Given the description of an element on the screen output the (x, y) to click on. 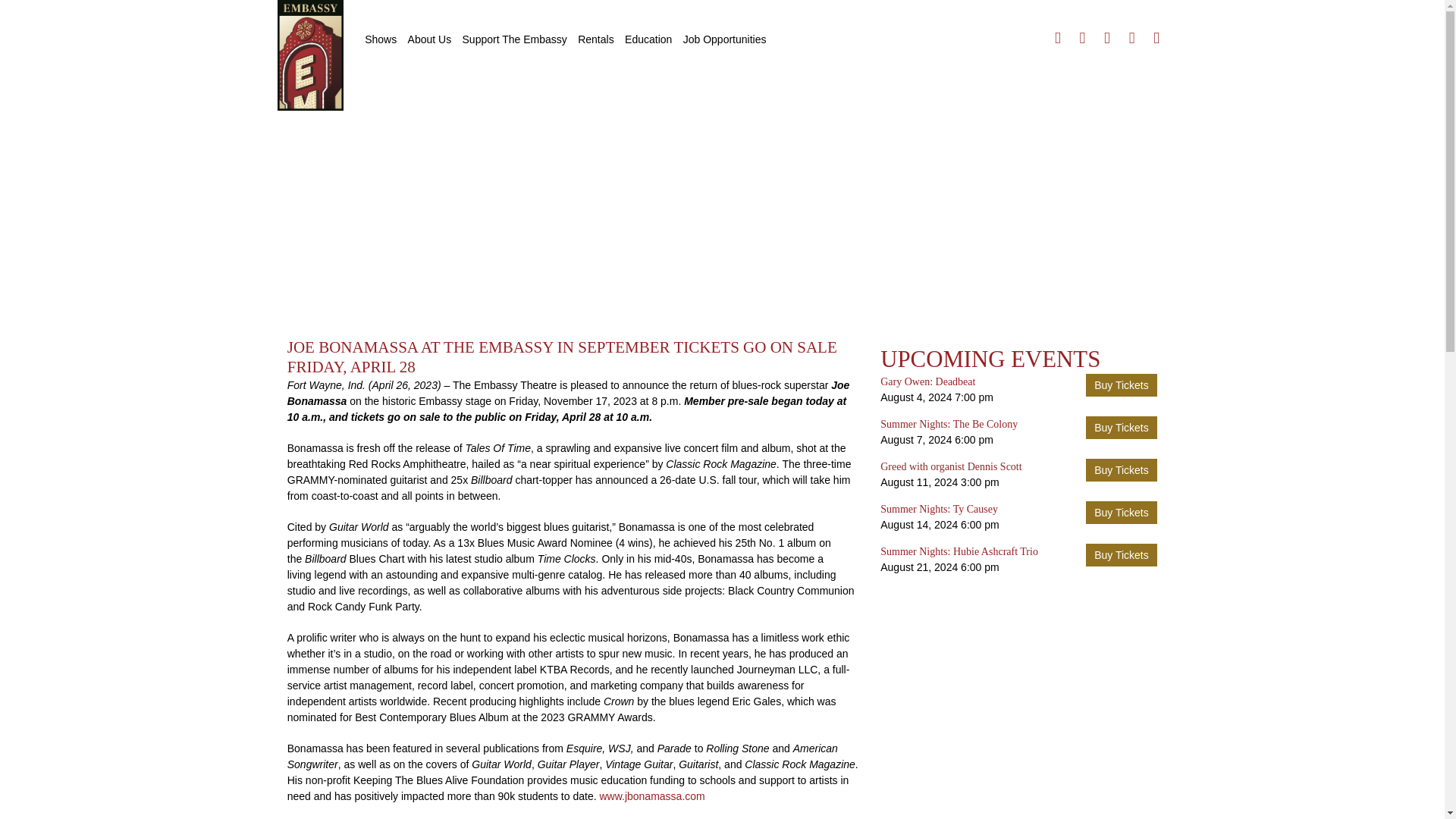
About Us (430, 39)
Support The Embassy (514, 39)
Facebook (1057, 38)
Education (648, 39)
Twitter (1082, 38)
Shows (380, 39)
Job Opportunities (724, 39)
Rentals (595, 39)
